Given the description of an element on the screen output the (x, y) to click on. 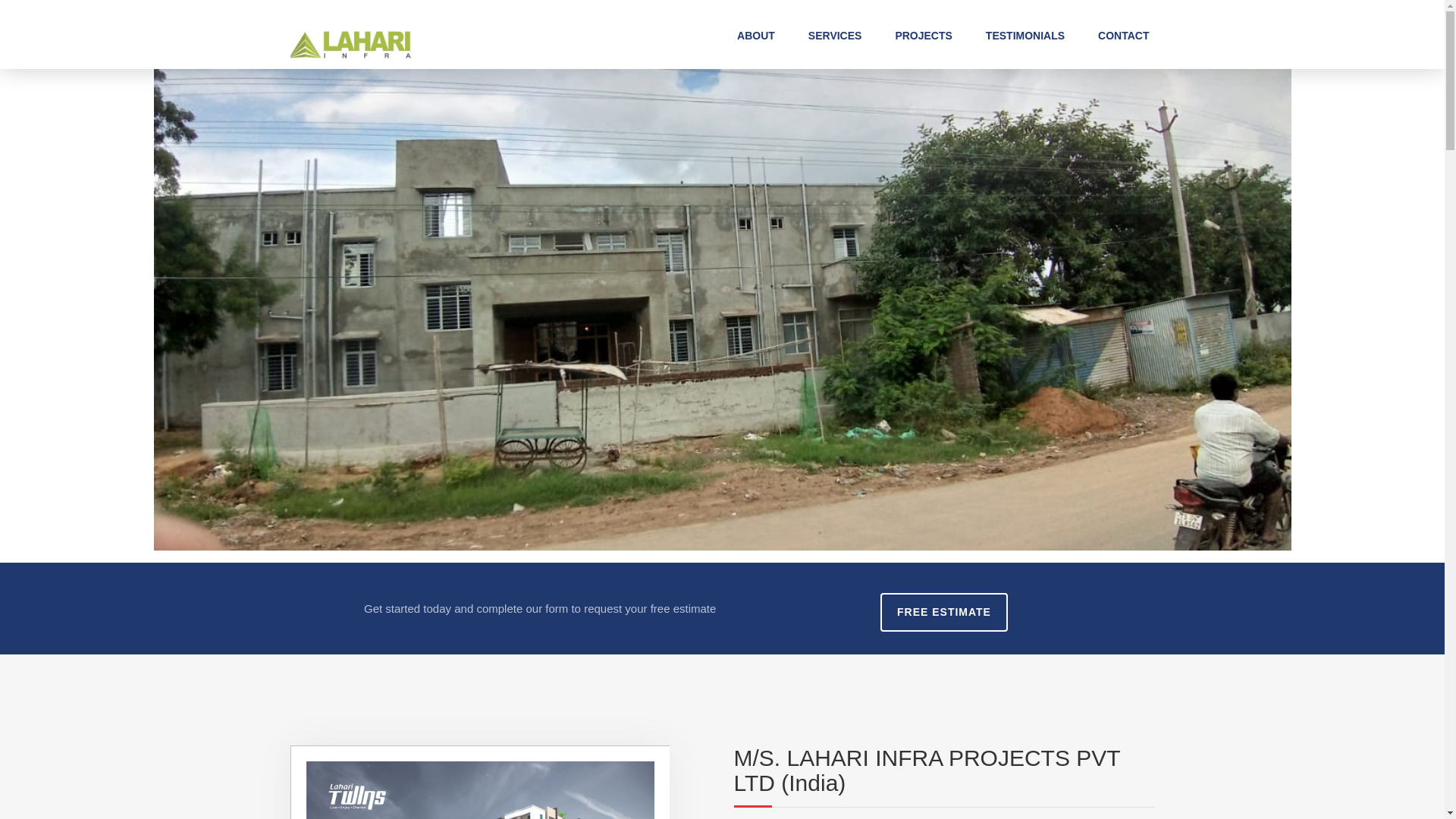
CONTACT (1123, 35)
FREE ESTIMATE (943, 611)
TESTIMONIALS (1024, 35)
FREE ESTIMATE (943, 611)
TESTIMONIALS (1024, 35)
SERVICES (834, 35)
ABOUT (755, 35)
PROJECTS (923, 35)
ABOUT (755, 35)
PROJECTS (923, 35)
CONTACT (1123, 35)
SERVICES (834, 35)
